Given the description of an element on the screen output the (x, y) to click on. 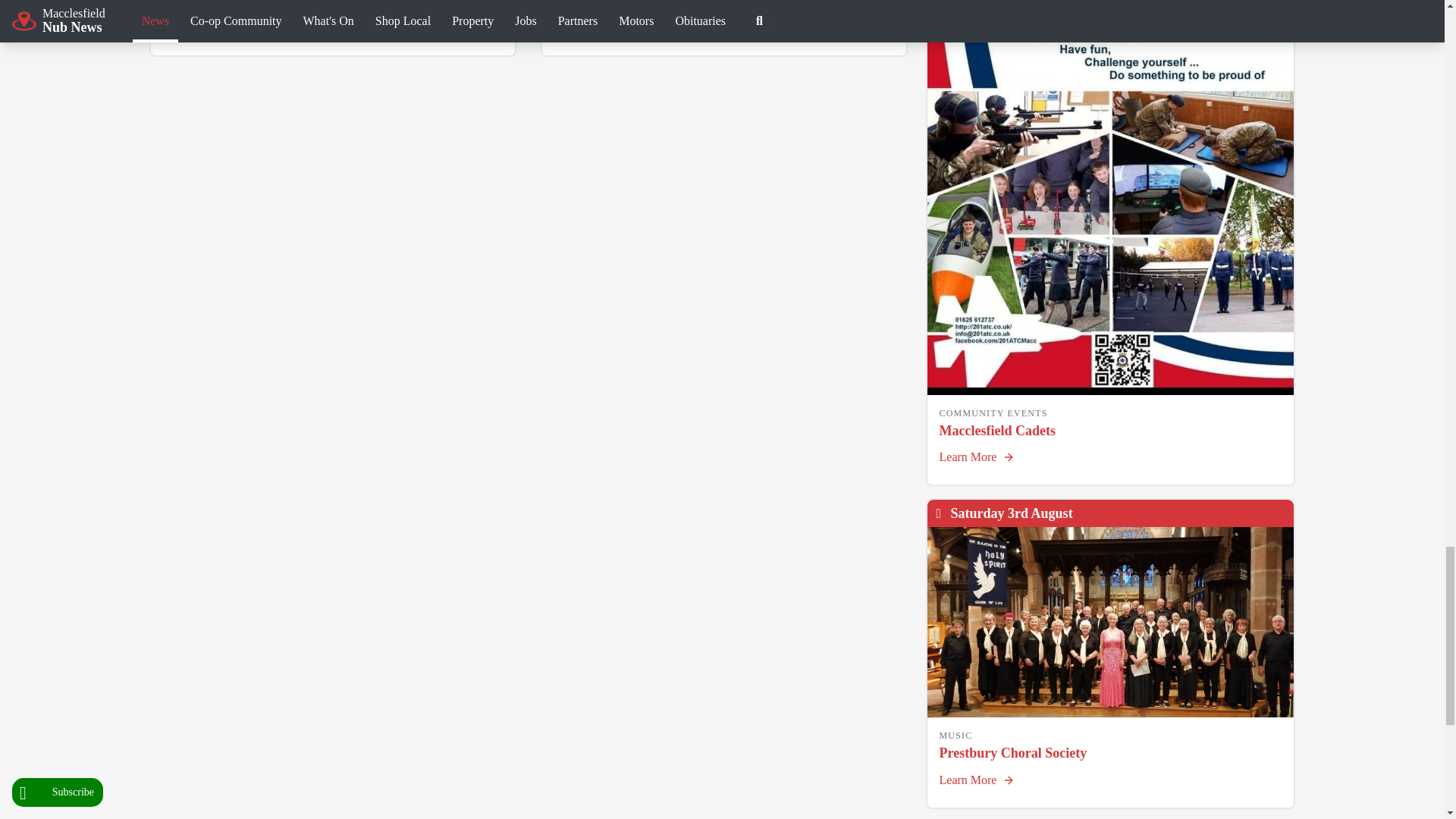
Prestbury Choral Society (1110, 622)
